Given the description of an element on the screen output the (x, y) to click on. 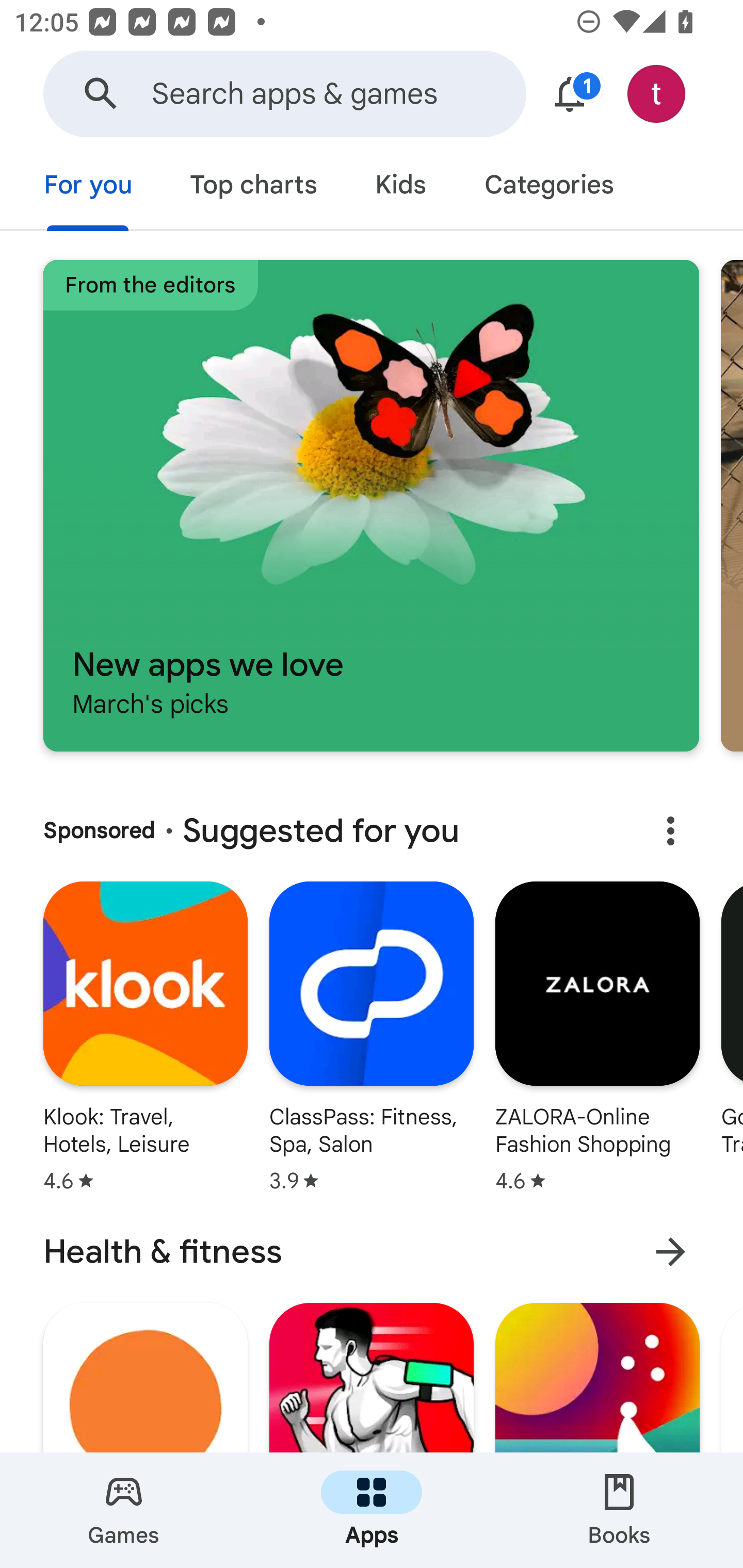
Search Google Play Search apps & games (284, 93)
Search Google Play (100, 93)
Top charts (253, 187)
Kids (400, 187)
Categories (548, 187)
New apps we love March's picks From the editors (371, 505)
About this ad (670, 830)
Klook: Travel, Hotels, Leisure
Star rating: 4.6
 (145, 1041)
ClassPass: Fitness, Spa, Salon
Star rating: 3.9
 (371, 1041)
ZALORA-Online Fashion Shopping
Star rating: 4.6
 (597, 1041)
Health & fitness More results for Health & fitness (371, 1252)
More results for Health & fitness (670, 1251)
Games (123, 1509)
Books (619, 1509)
